Given the description of an element on the screen output the (x, y) to click on. 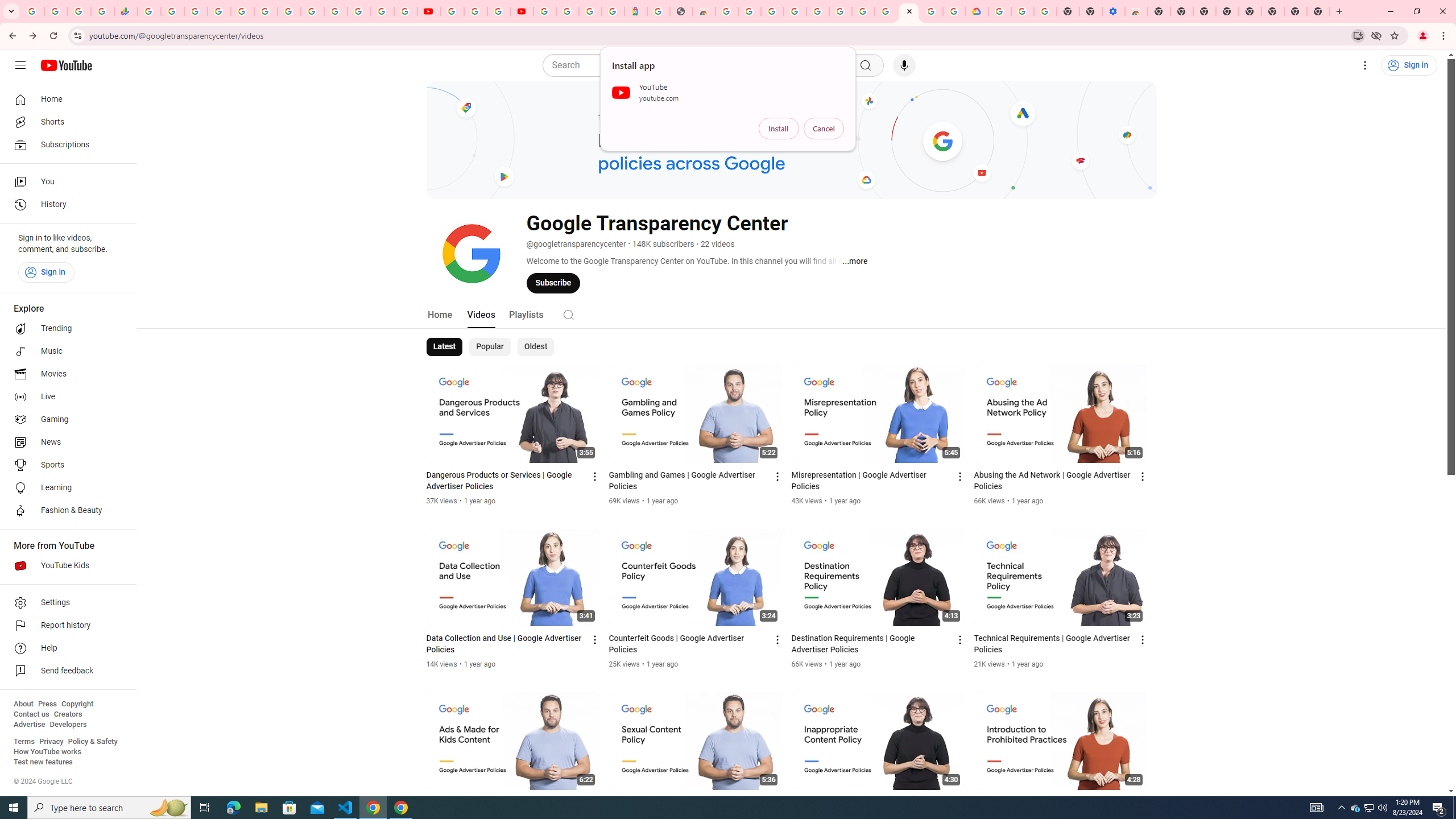
Sign in - Google Accounts (545, 11)
New Tab (1158, 11)
Fashion & Beauty (64, 510)
Sign in - Google Accounts (335, 11)
Android TV Policies and Guidelines - Transparency Center (885, 11)
Install (778, 128)
YouTube Kids (64, 565)
Test new features (42, 761)
Create your Google Account (498, 11)
